Given the description of an element on the screen output the (x, y) to click on. 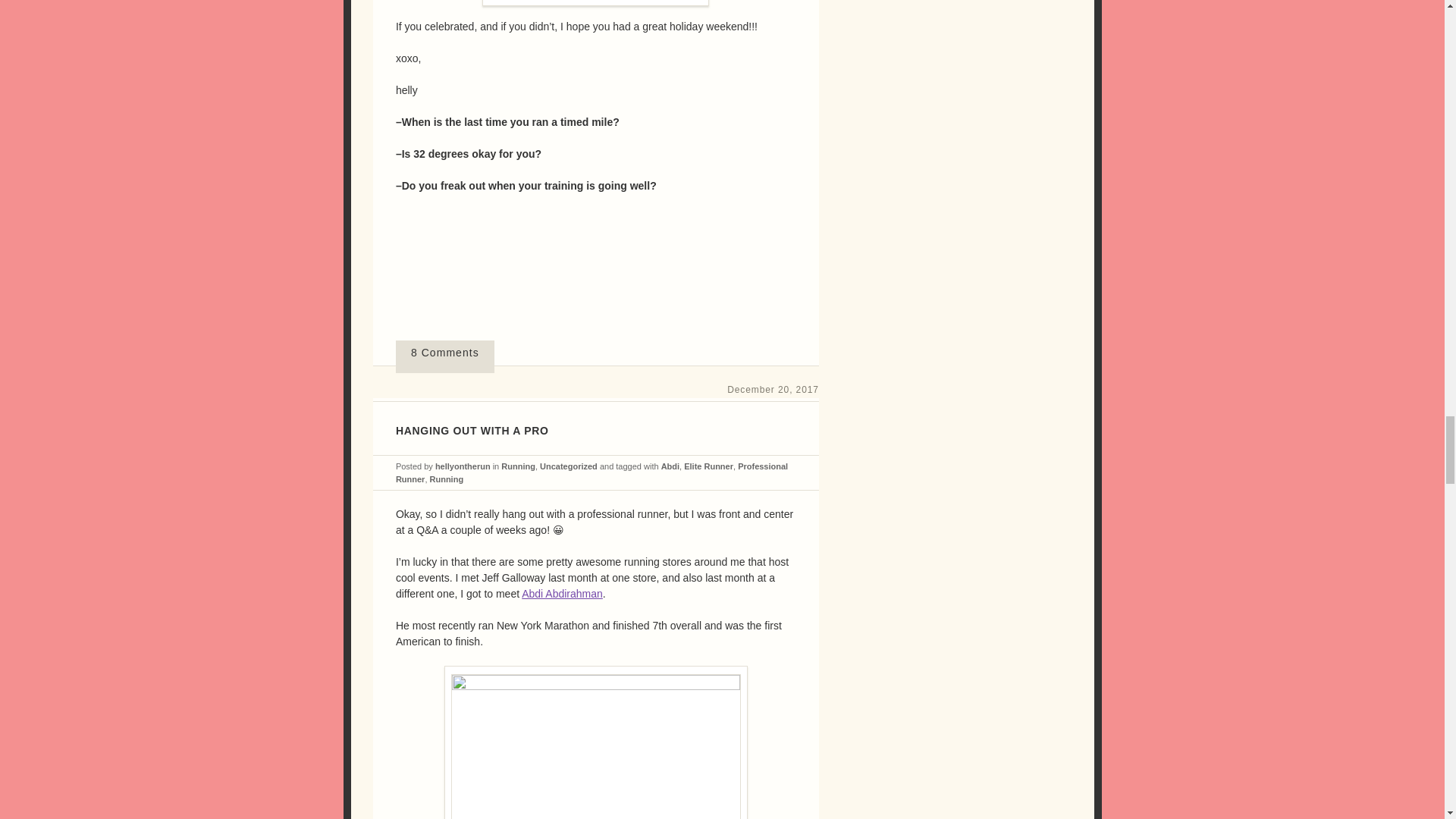
HANGING OUT WITH A PRO (472, 430)
8 Comments (445, 356)
Elite Runner (708, 465)
hellyontherun (462, 465)
Abdi (670, 465)
Running (517, 465)
Professional Runner (591, 472)
Uncategorized (568, 465)
View all posts by hellyontherun (462, 465)
